Given the description of an element on the screen output the (x, y) to click on. 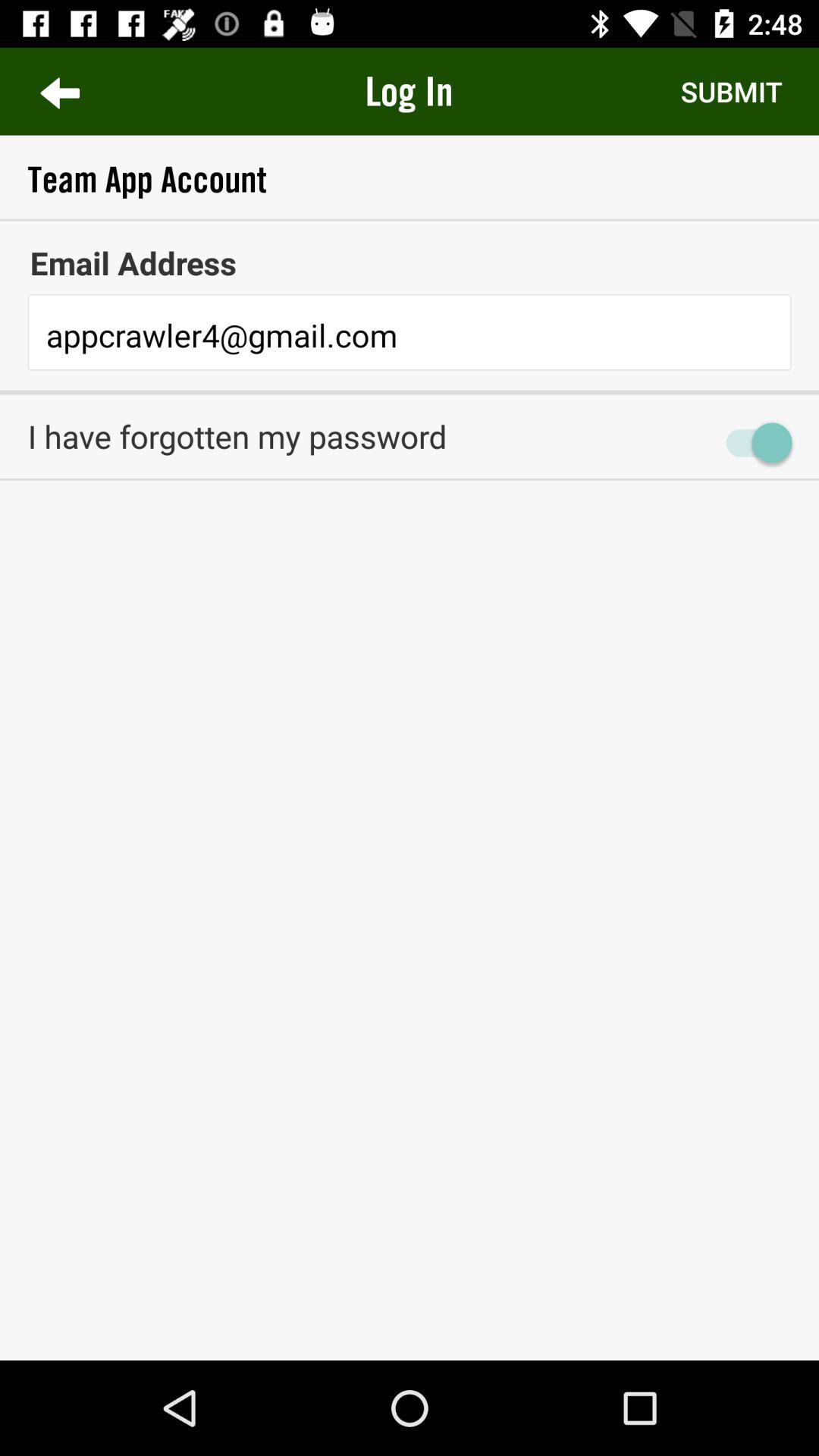
select item below the log in icon (409, 178)
